Given the description of an element on the screen output the (x, y) to click on. 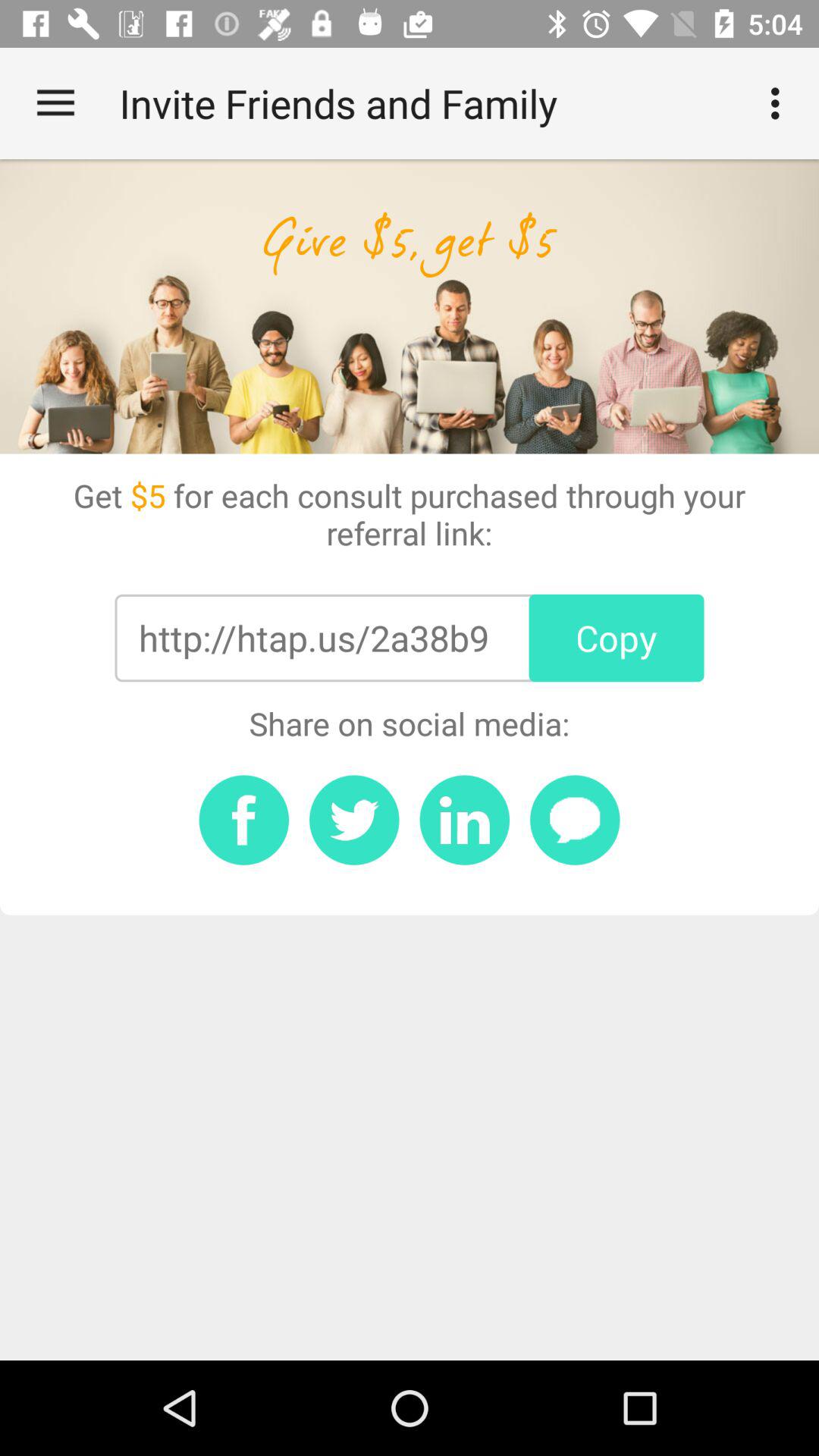
share link on twitter (354, 820)
